Given the description of an element on the screen output the (x, y) to click on. 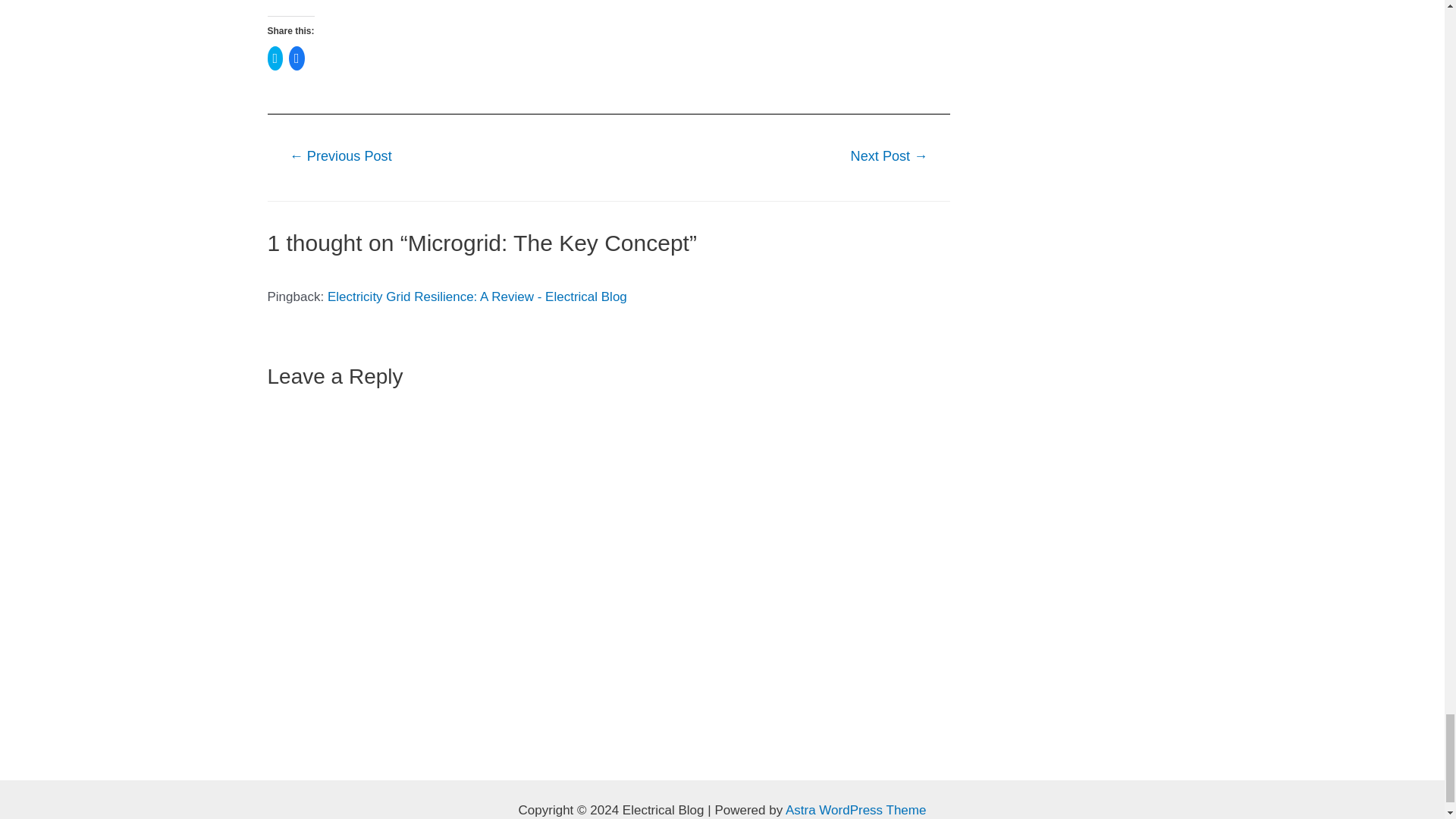
Astra WordPress Theme (856, 810)
Electricity Grid Resilience: A Review - Electrical Blog (477, 296)
Induction Motor: A Review (888, 157)
